Given the description of an element on the screen output the (x, y) to click on. 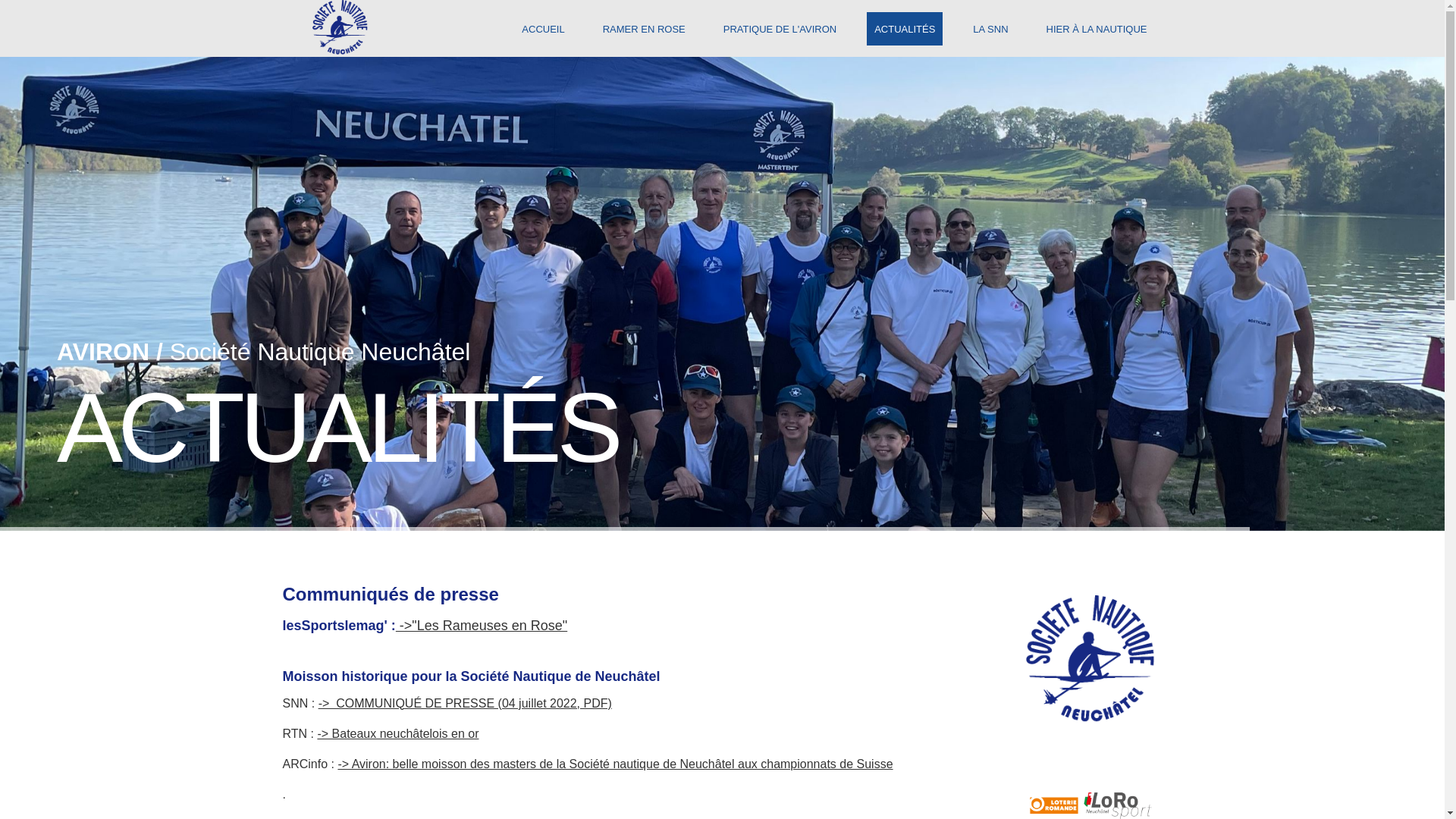
LA SNN Element type: text (989, 28)
  Element type: text (338, 27)
PRATIQUE DE L'AVIRON Element type: text (779, 28)
ACCUEIL Element type: text (542, 28)
->"Les Rameuses en Rose" Element type: text (481, 625)
RAMER EN ROSE Element type: text (643, 28)
